Given the description of an element on the screen output the (x, y) to click on. 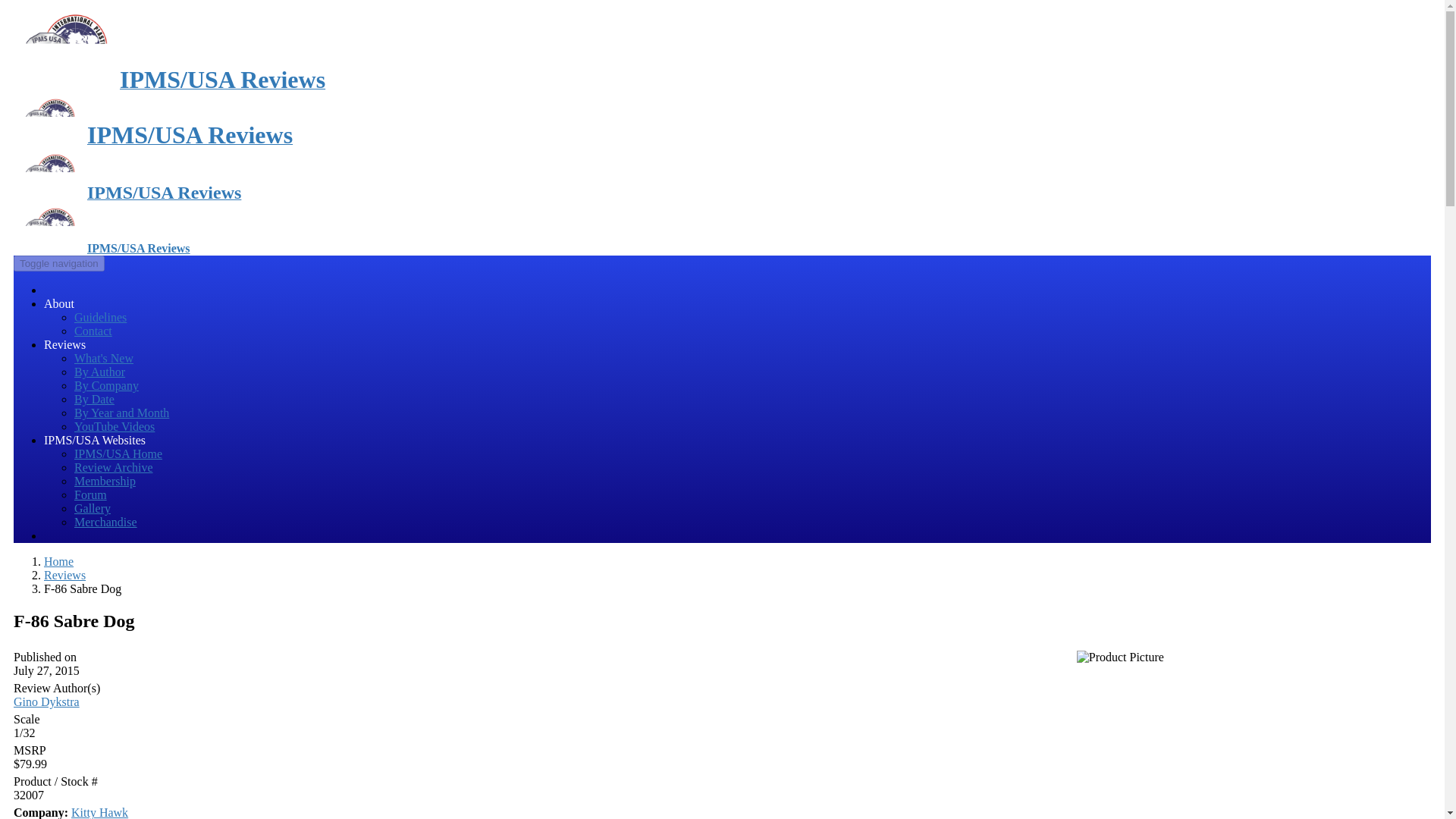
By Author (99, 371)
Kitty Hawk (99, 812)
Merchandise (105, 521)
Forum (90, 494)
What's New (103, 358)
By Company (106, 385)
Reviewers' Corps Membership and Product Review Guidelines (100, 317)
YouTube Videos (114, 426)
Reviews (64, 574)
Archive of pre-2008 reviews. (113, 467)
